Given the description of an element on the screen output the (x, y) to click on. 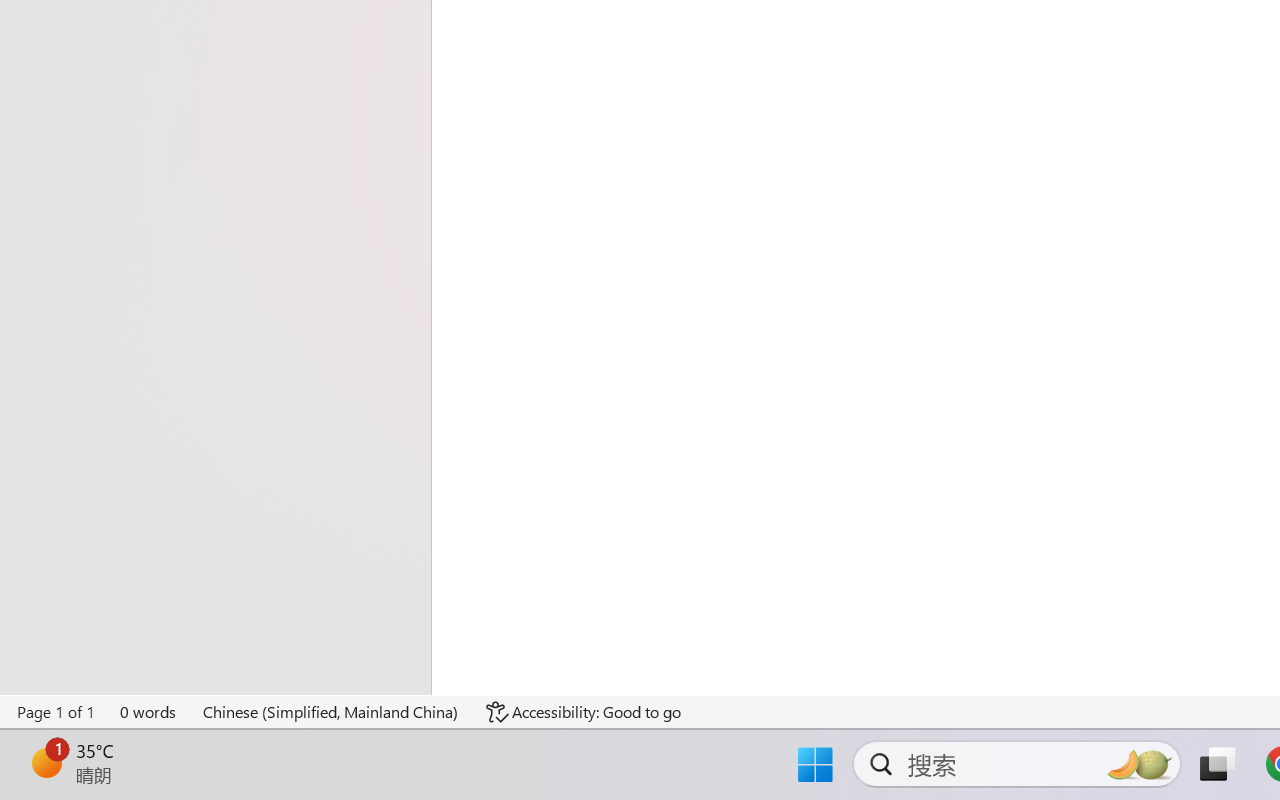
Language Chinese (Simplified, Mainland China) (331, 712)
